Given the description of an element on the screen output the (x, y) to click on. 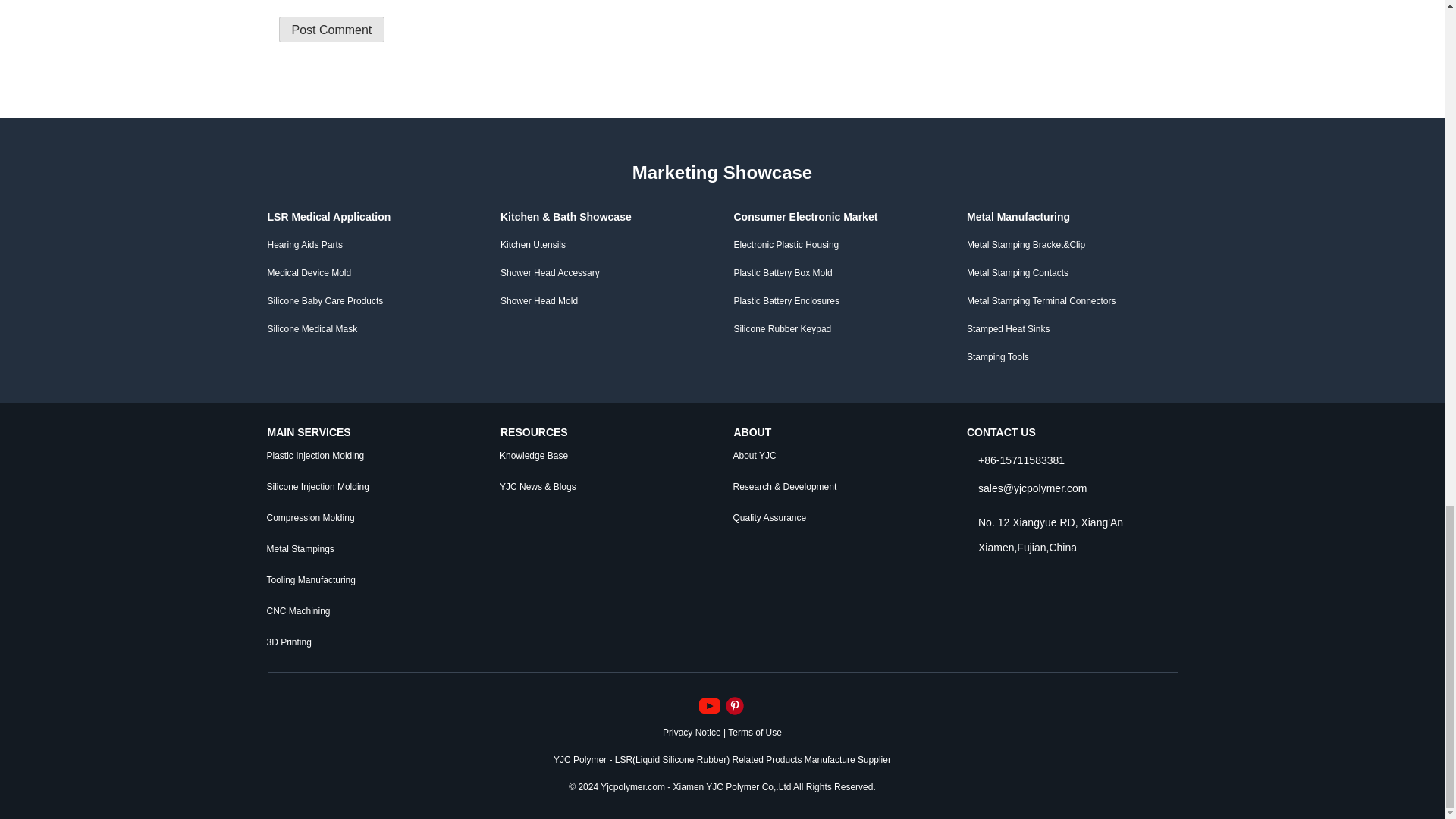
Find us on Youtube (710, 704)
Terms of Use - Yjcpolymer.com (754, 731)
Privacy Notice (691, 731)
Post Comment (332, 29)
Find us on Pinterest (734, 704)
